Given the description of an element on the screen output the (x, y) to click on. 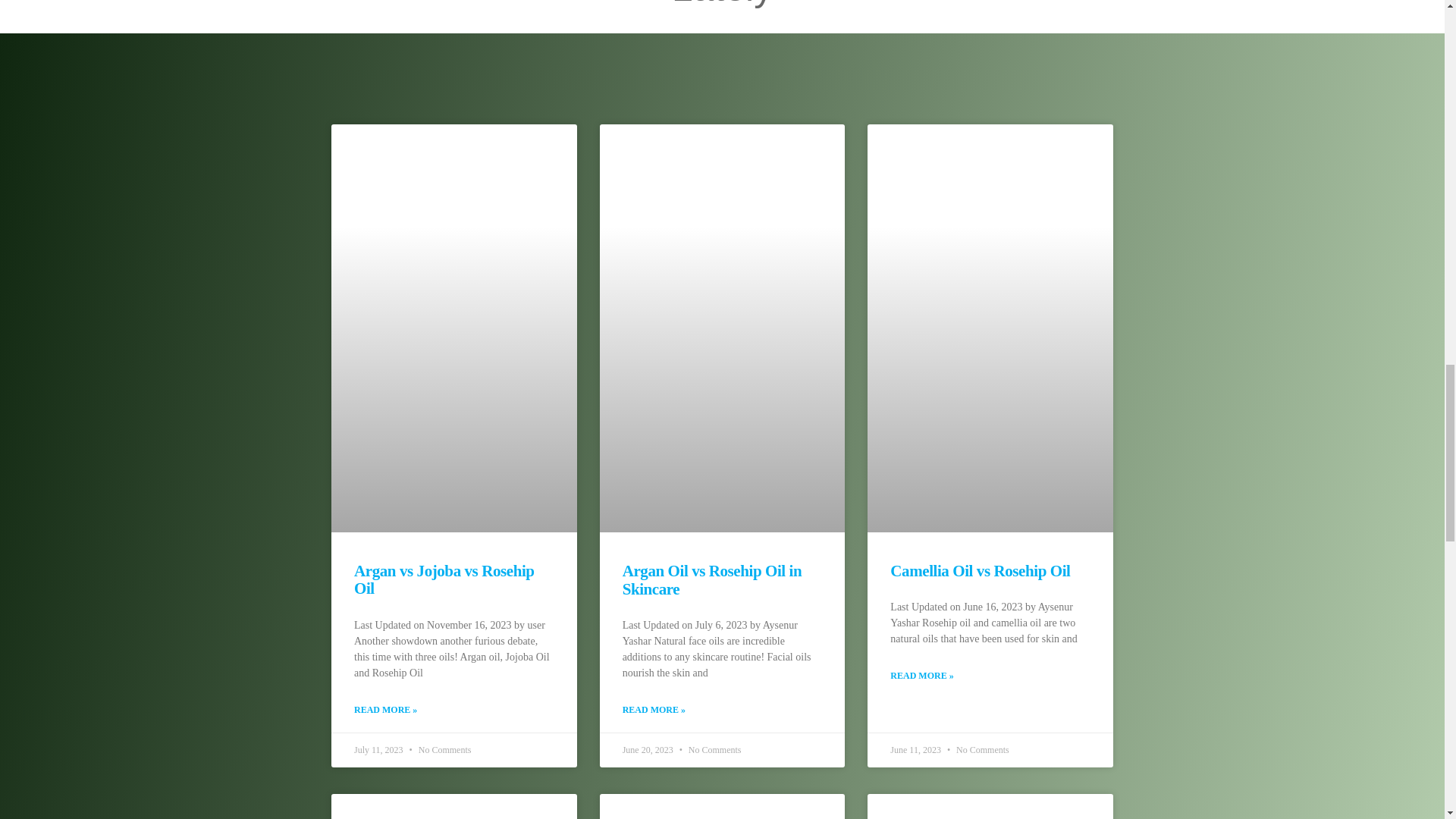
Argan Oil vs Rosehip Oil in Skincare (712, 579)
Camellia Oil vs Rosehip Oil (979, 570)
Argan vs Jojoba vs Rosehip Oil (443, 579)
